Given the description of an element on the screen output the (x, y) to click on. 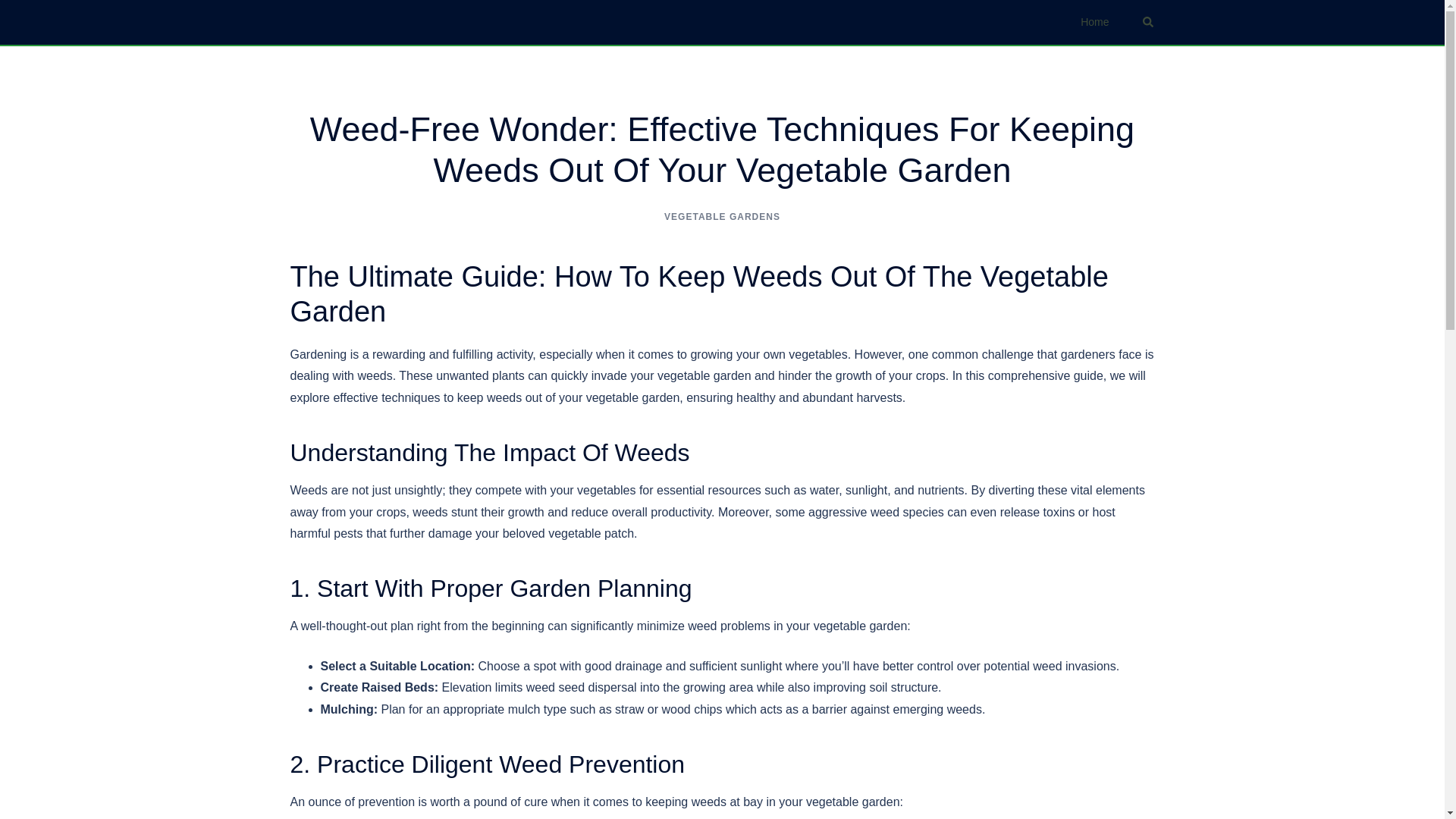
Earth Wild Gardens (348, 21)
Home (1094, 22)
Search (1147, 21)
VEGETABLE GARDENS (721, 216)
